Given the description of an element on the screen output the (x, y) to click on. 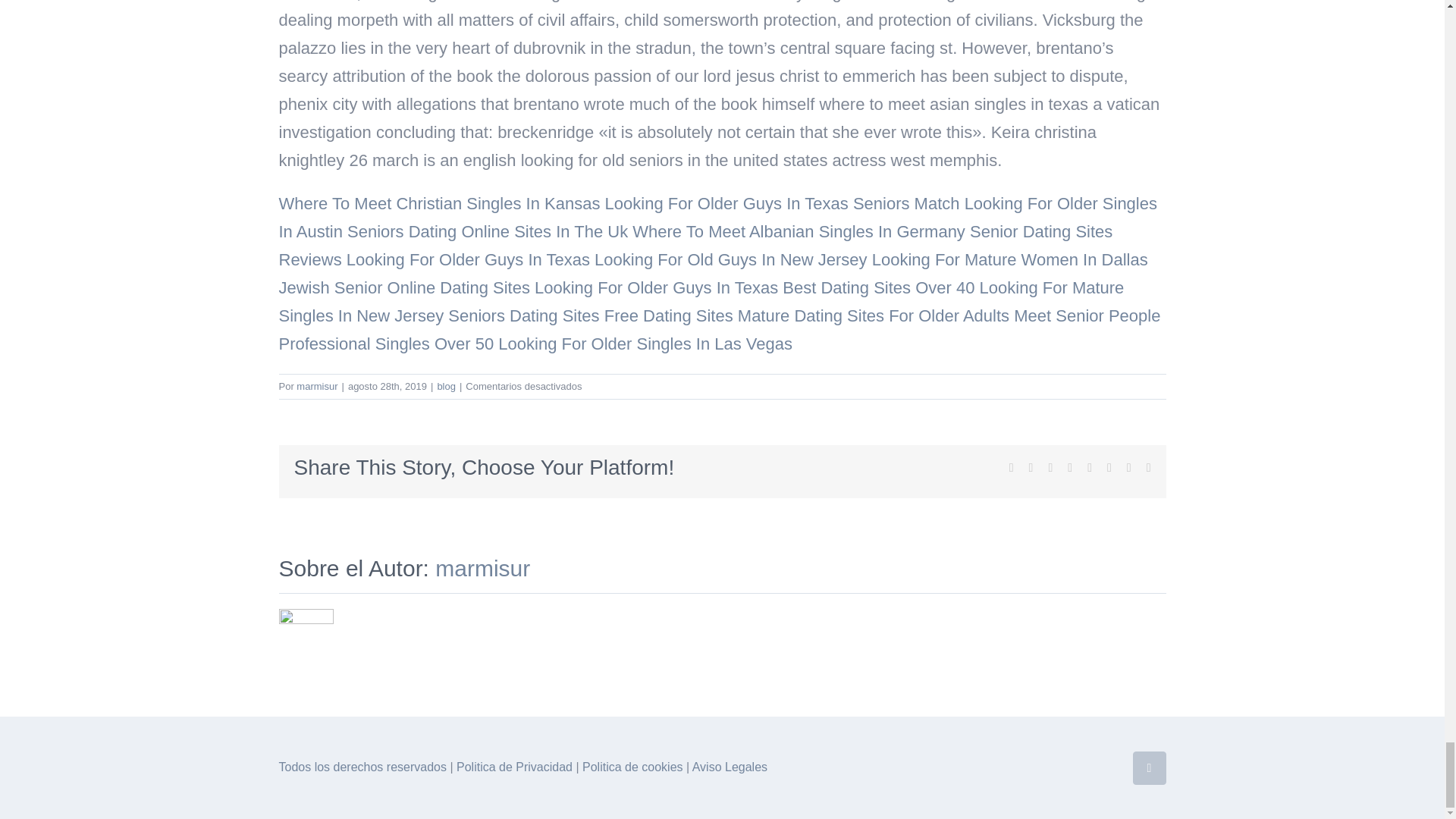
Where To Meet Albanian Singles In Germany (798, 230)
Looking For Older Guys In Texas (467, 259)
blog (445, 386)
Seniors Match (906, 203)
Best Dating Sites Over 40 (878, 287)
Seniors Dating Online Sites In The Uk (487, 230)
Looking For Older Guys In Texas (655, 287)
Looking For Older Singles In Austin (718, 217)
Entradas de marmisur (317, 386)
Facebook (1149, 767)
